Given the description of an element on the screen output the (x, y) to click on. 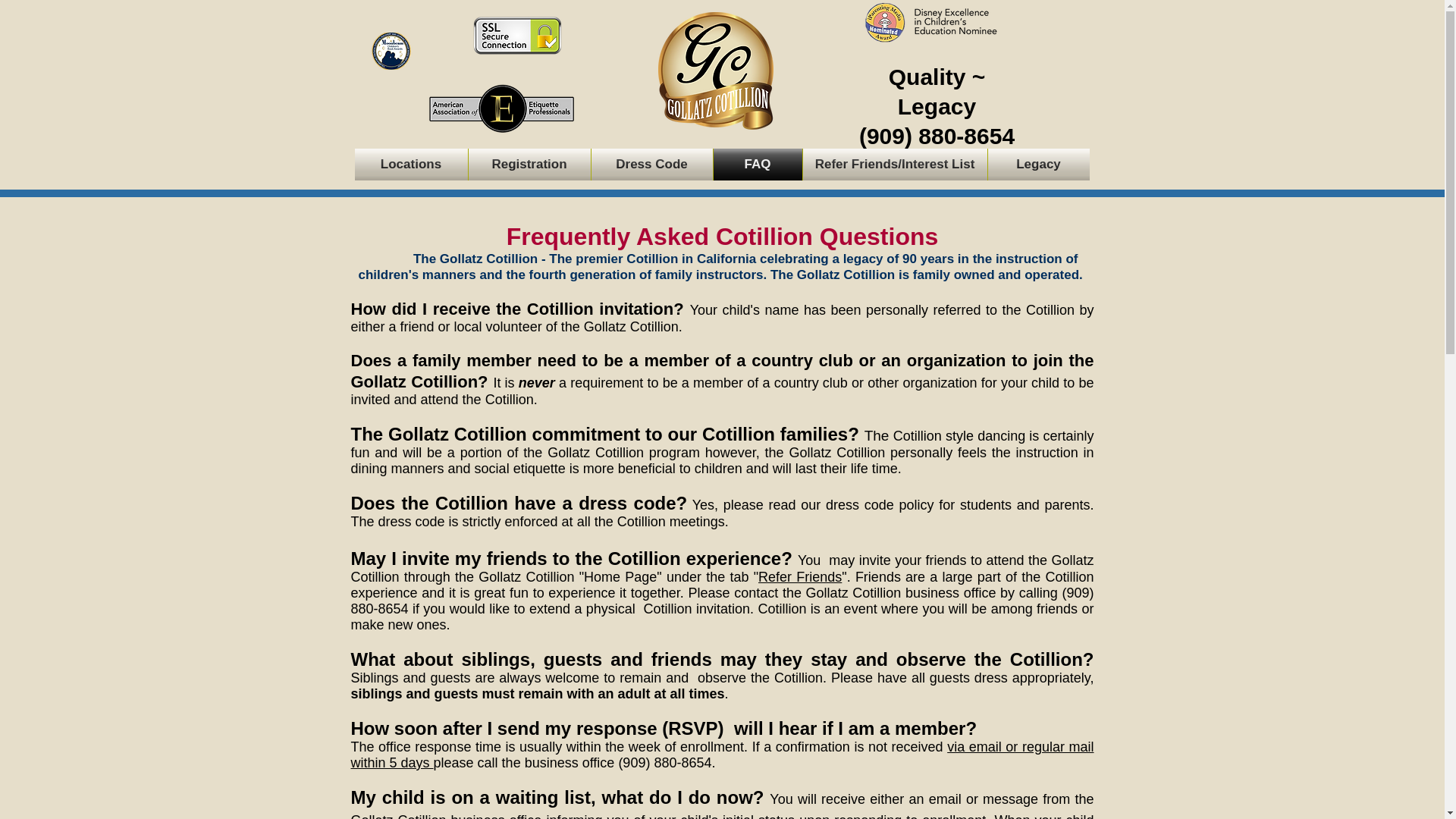
Legacy (1038, 164)
FAQ (757, 164)
Dress Code (652, 164)
Registration (529, 164)
